Given the description of an element on the screen output the (x, y) to click on. 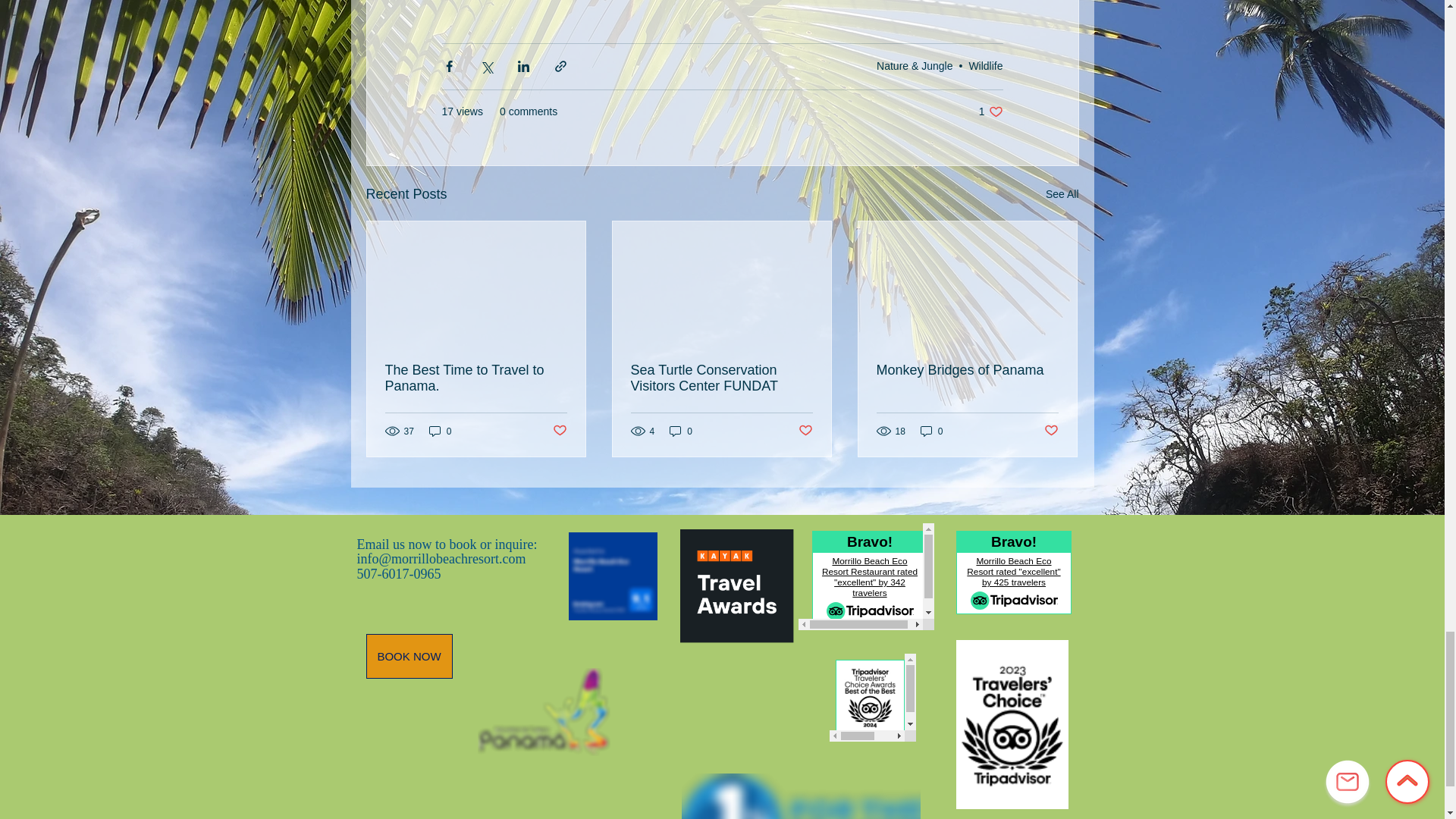
Best of the Best TripAdvisor Morrillo Beach Eco Resort (872, 697)
Embedded Content (734, 588)
Embedded Content (1009, 576)
Approved by Panama Authority of Tourism (543, 711)
Embedded Content (865, 576)
